Given the description of an element on the screen output the (x, y) to click on. 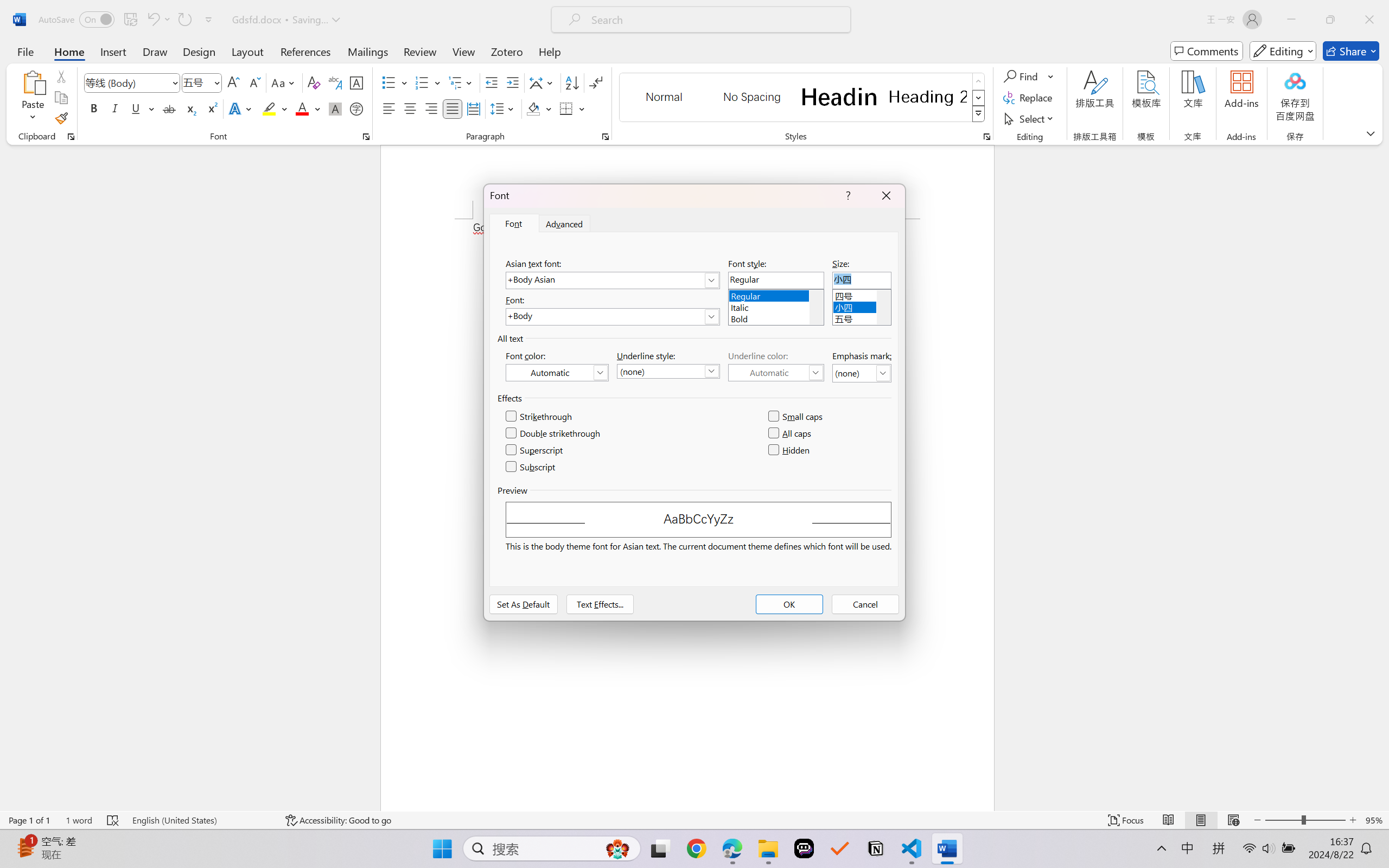
Text Effects and Typography (241, 108)
Poe (804, 848)
Repeat Style (184, 19)
Font style: (775, 280)
Font: (612, 316)
